Given the description of an element on the screen output the (x, y) to click on. 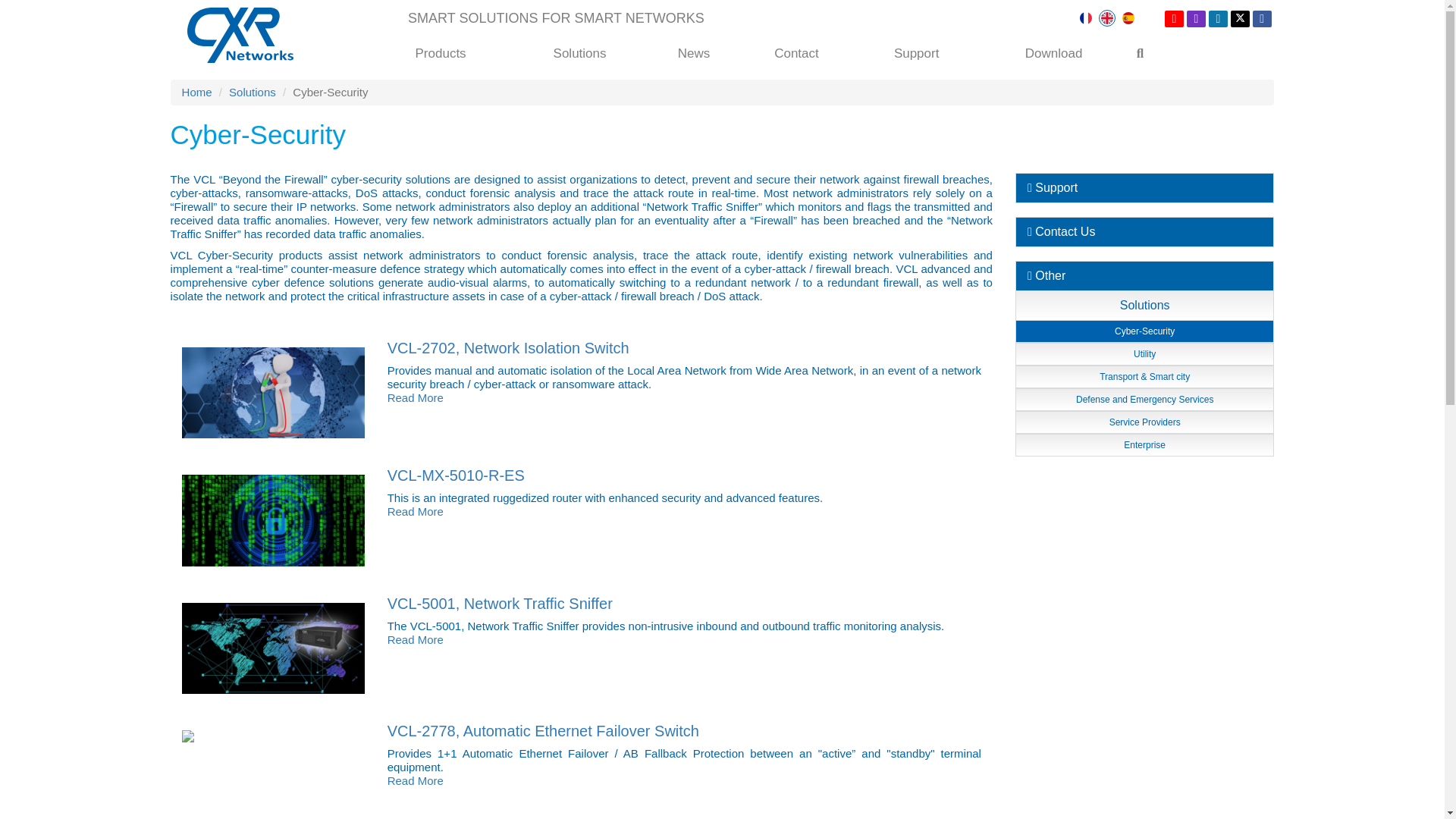
Products (440, 53)
